Given the description of an element on the screen output the (x, y) to click on. 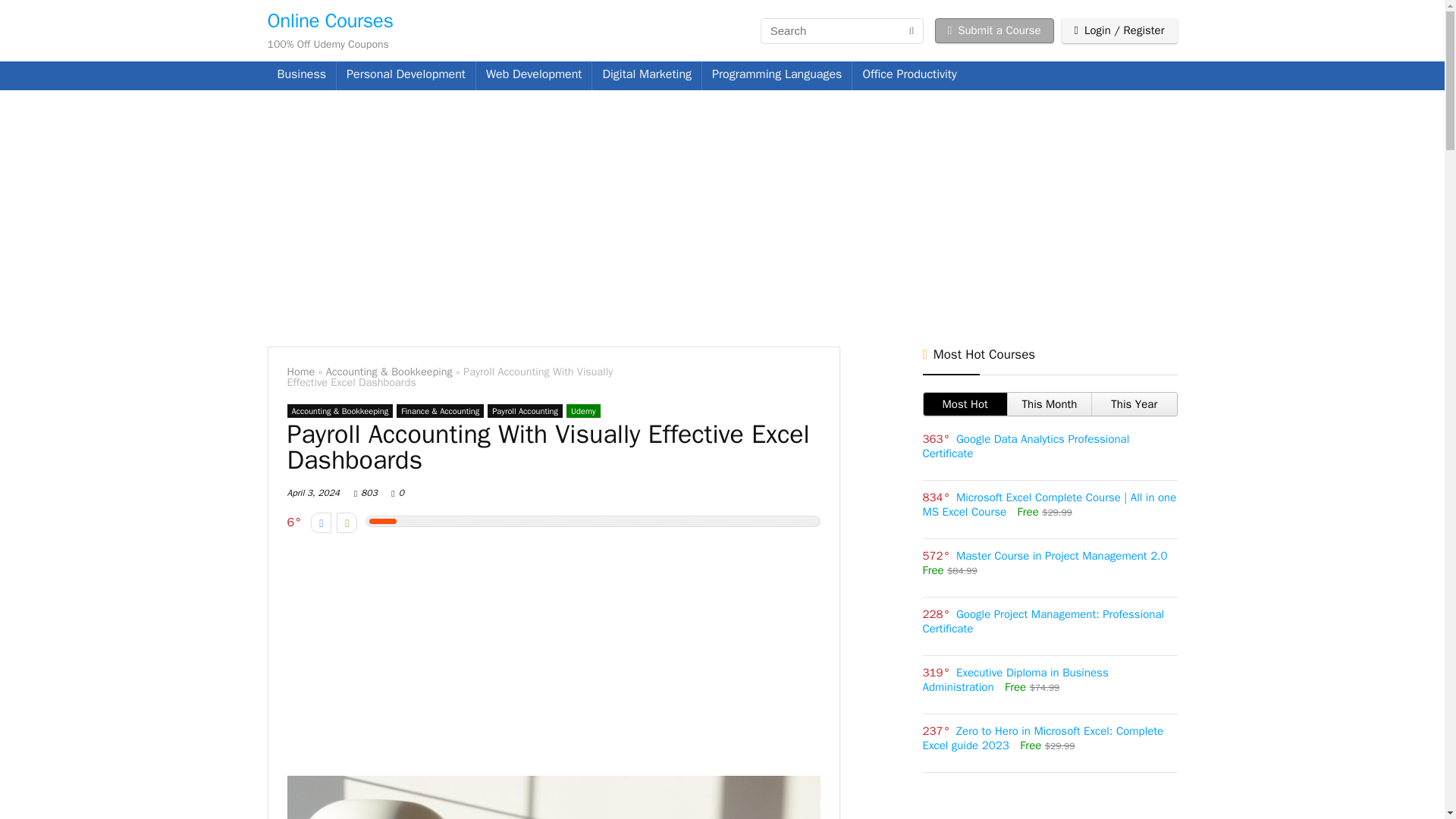
Digital Marketing (646, 75)
Advertisement (552, 658)
View all posts in Payroll Accounting (524, 410)
Vote up (346, 522)
View all posts in Udemy (582, 410)
Vote down (321, 522)
Google Data Analytics Professional Certificate (1025, 446)
Home (300, 371)
Master Course in Project Management 2.0 (1061, 555)
Payroll Accounting With Visually Effective Excel Dashboards (552, 797)
Payroll Accounting (524, 410)
Udemy (582, 410)
Personal Development (406, 75)
Office Productivity (908, 75)
Executive Diploma in Business Administration (1014, 679)
